Given the description of an element on the screen output the (x, y) to click on. 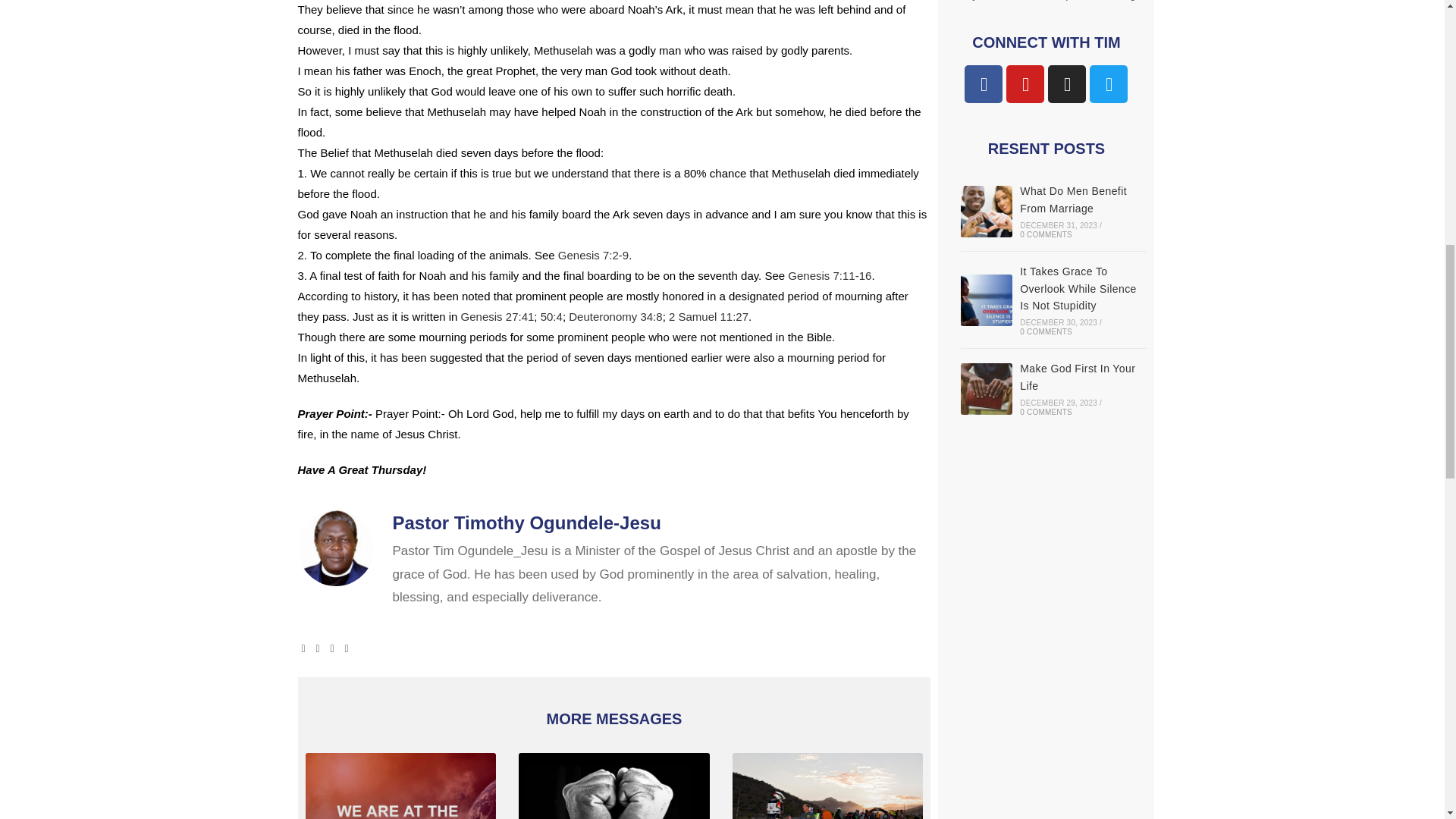
Genesis 7:2-9 (592, 254)
Pastor Timothy Ogundele-Jesu (662, 523)
What Do Men Benefit From Marriage (985, 211)
Genesis 27:41 (497, 316)
Genesis 7:11-16 (828, 275)
Deuteronomy 34:8 (615, 316)
It Takes Grace To Overlook While Silence Is Not Stupidity (985, 299)
Make God First In Your Life (985, 388)
2 Samuel 11:27 (708, 316)
50:4 (551, 316)
